Given the description of an element on the screen output the (x, y) to click on. 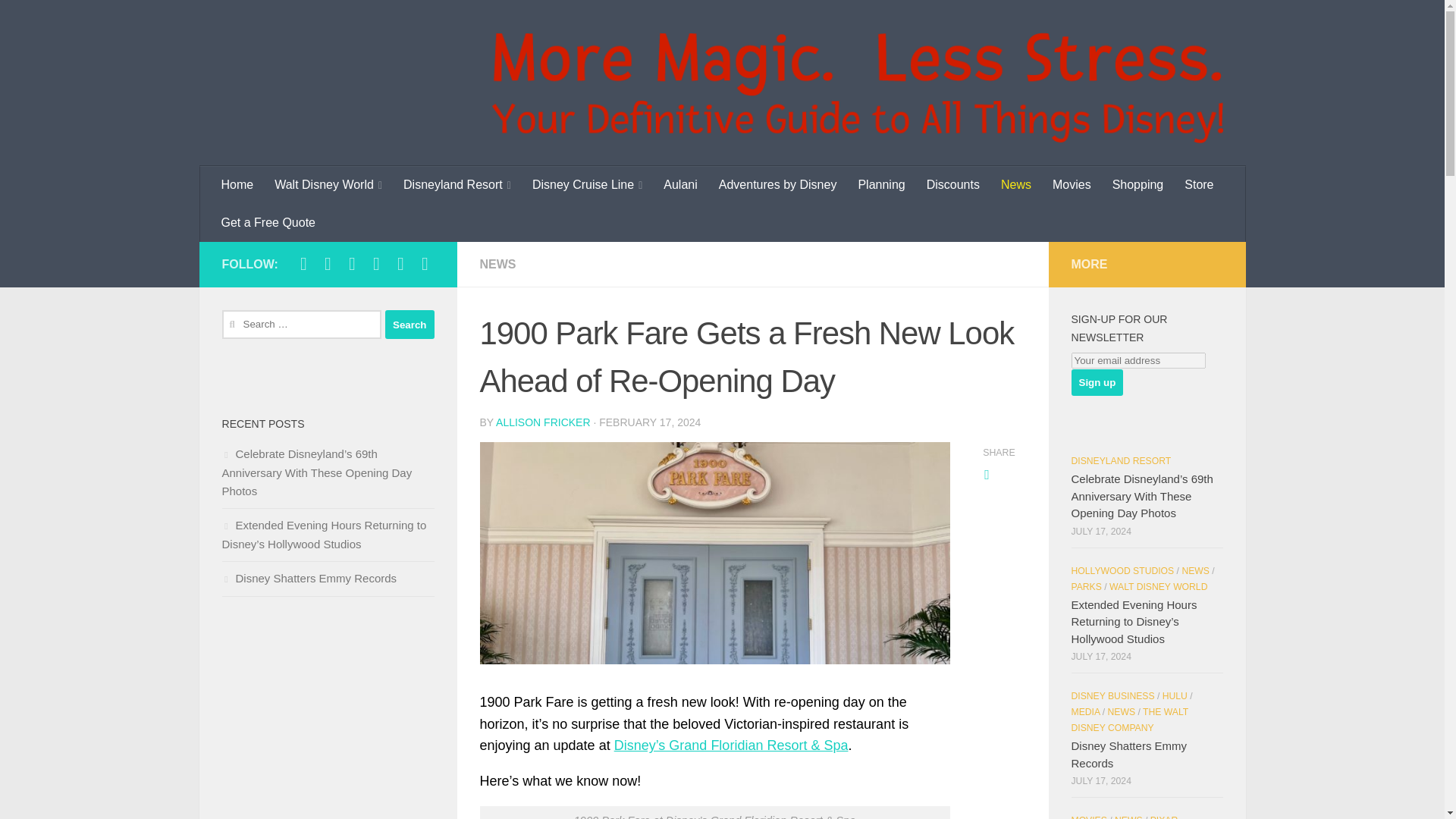
Search (409, 324)
Walt Disney World (328, 184)
Posts by Allison Fricker (542, 422)
Follow us on Youtube (400, 263)
Follow us on Tiktok (375, 263)
Follow us on Facebook (303, 263)
1900 Park Fare Gets a Fresh New Look Ahead of Re-Opening Day (714, 553)
Search (409, 324)
Skip to content (63, 20)
Follow us on Twitter (351, 263)
Follow us on Instagram (327, 263)
Sign up (1096, 382)
Home (237, 184)
Follow us on Pinterest (423, 263)
